Given the description of an element on the screen output the (x, y) to click on. 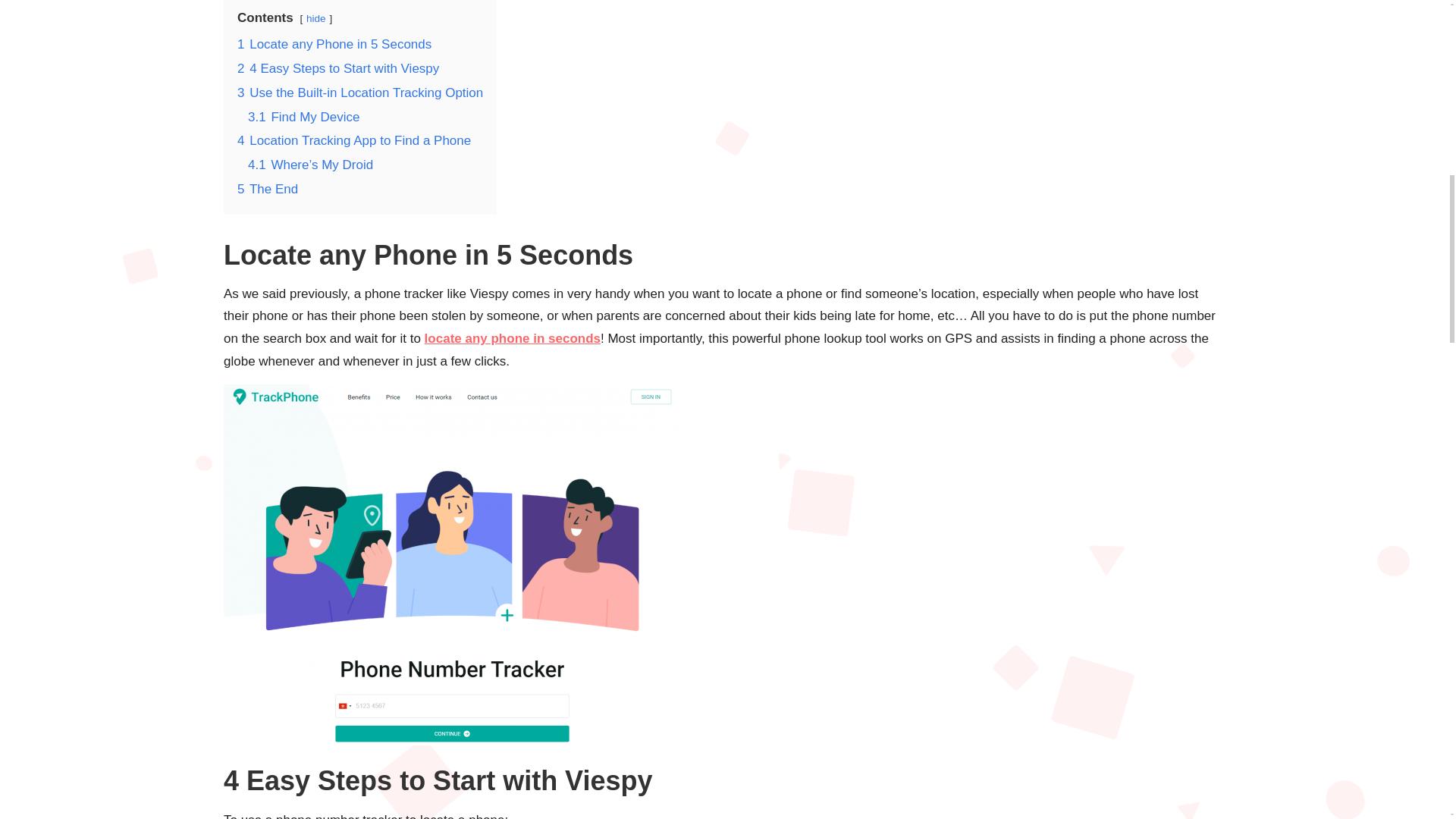
locate any phone in seconds (512, 338)
4 Location Tracking App to Find a Phone (353, 140)
3 Use the Built-in Location Tracking Option (360, 92)
5 The End (267, 188)
1 Locate any Phone in 5 Seconds (333, 43)
hide (315, 17)
2 4 Easy Steps to Start with Viespy (338, 68)
3.1 Find My Device (303, 115)
